Given the description of an element on the screen output the (x, y) to click on. 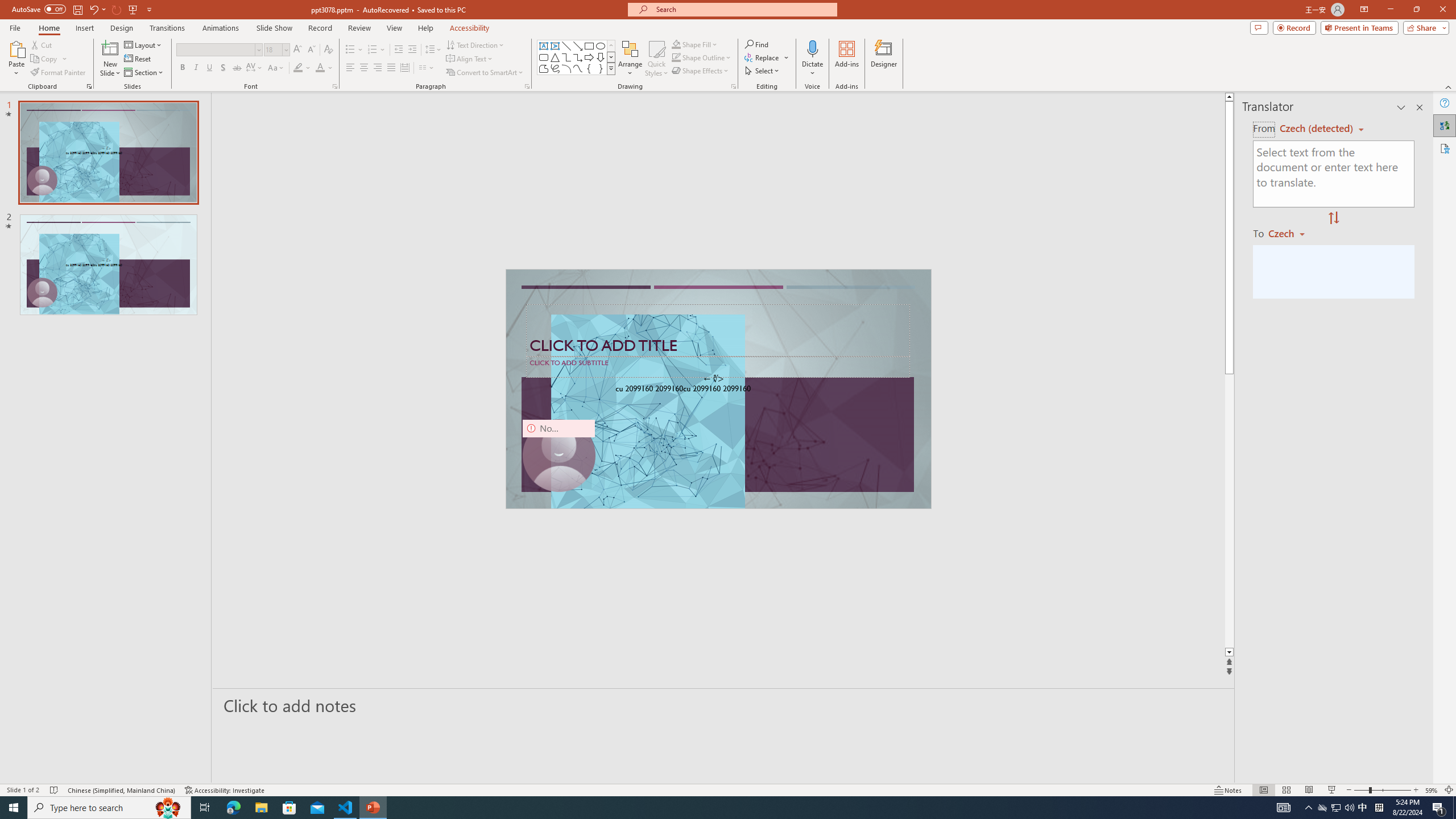
Font... (334, 85)
Paragraph... (526, 85)
Arrange (630, 58)
Czech (detected) (1317, 128)
